Given the description of an element on the screen output the (x, y) to click on. 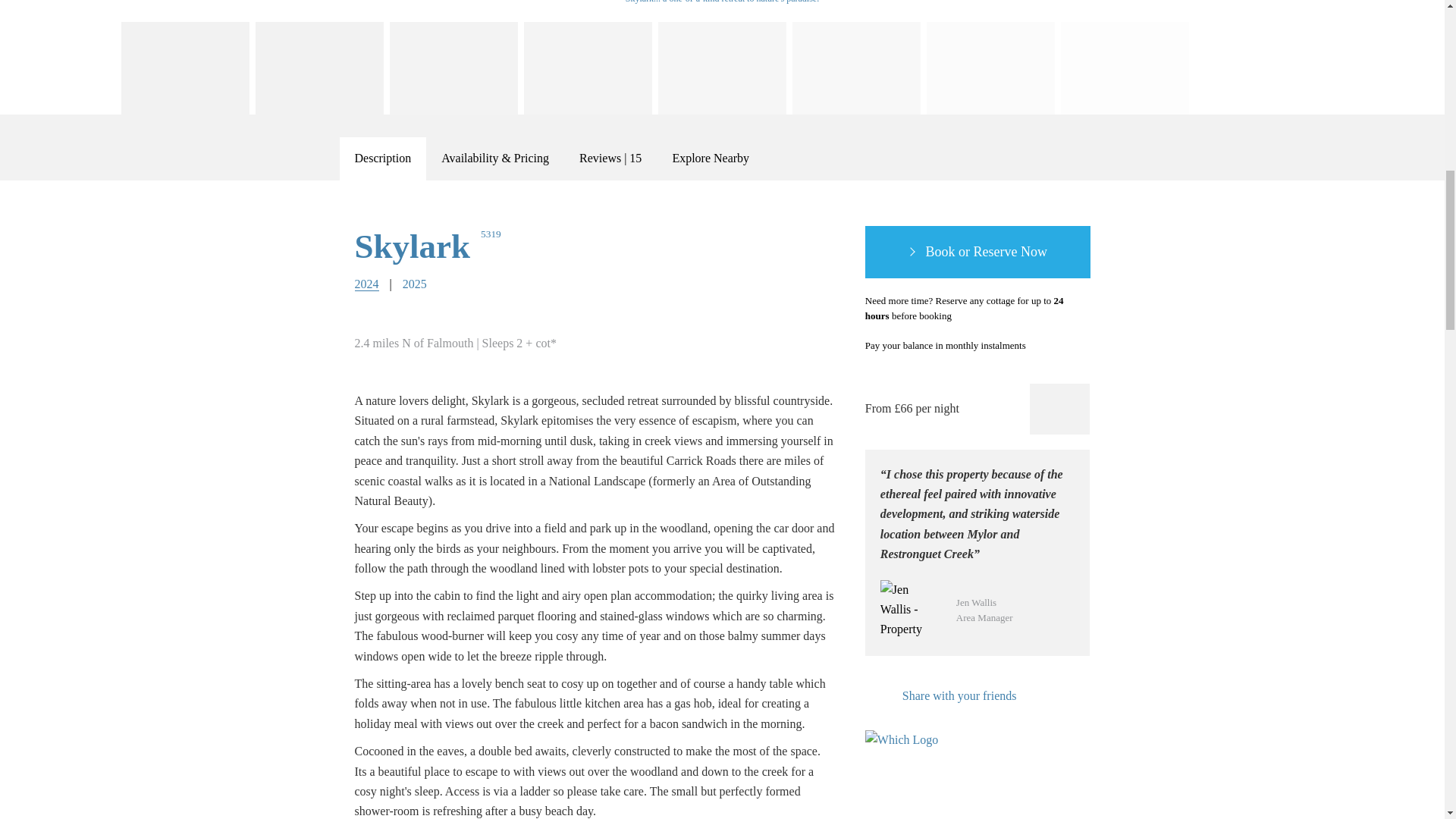
Part Payment Information (1042, 345)
2024 (366, 284)
Explore Nearby (710, 158)
Classic Cottages is a Which? Recommended Provider (908, 758)
2025 (414, 283)
Book or Reserve (977, 252)
Description (382, 158)
